Given the description of an element on the screen output the (x, y) to click on. 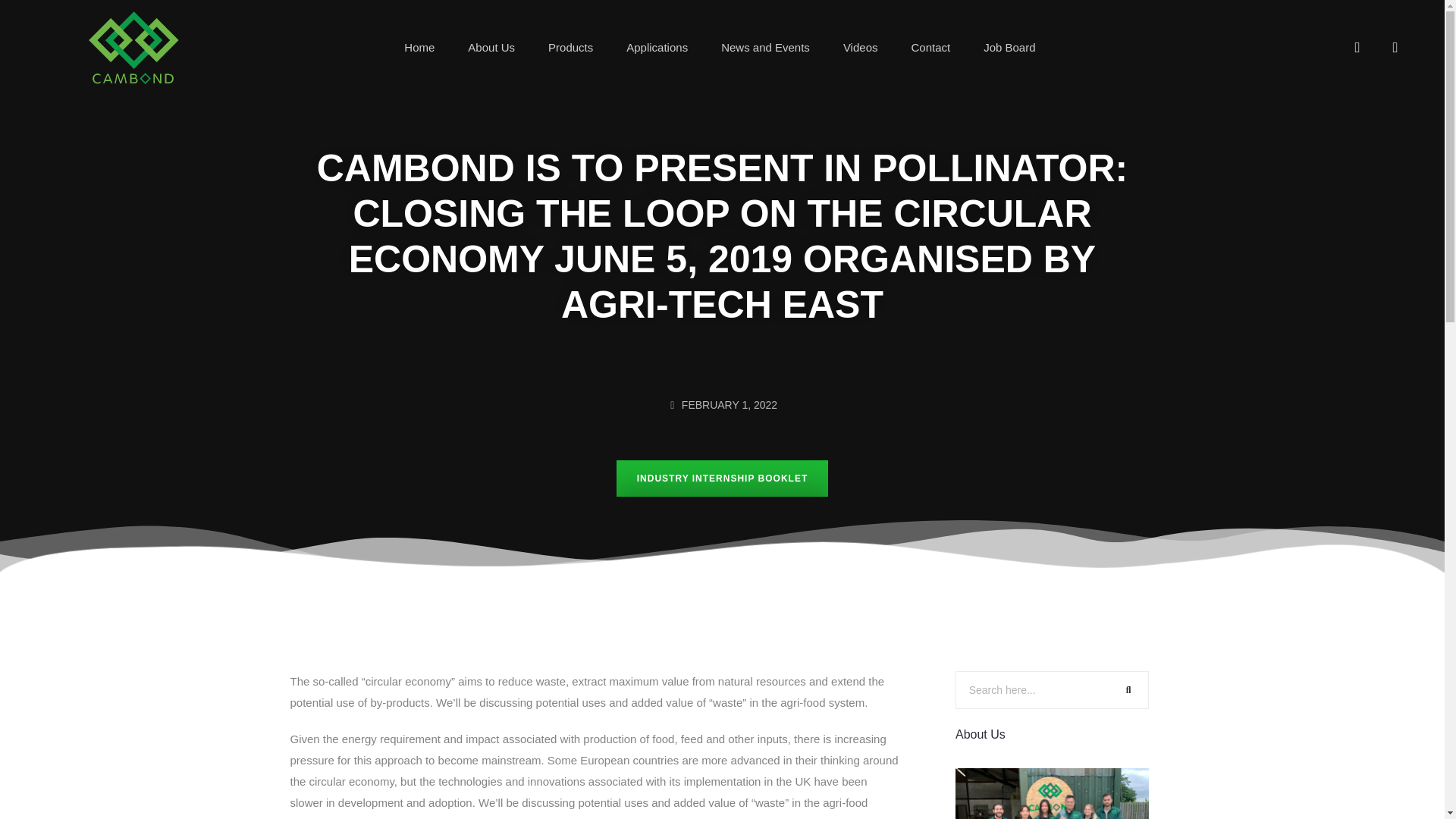
News and Events (764, 47)
Home (419, 47)
About Us (491, 47)
Job Board (1008, 47)
Contact (930, 47)
Products (570, 47)
Applications (657, 47)
Videos (860, 47)
